Given the description of an element on the screen output the (x, y) to click on. 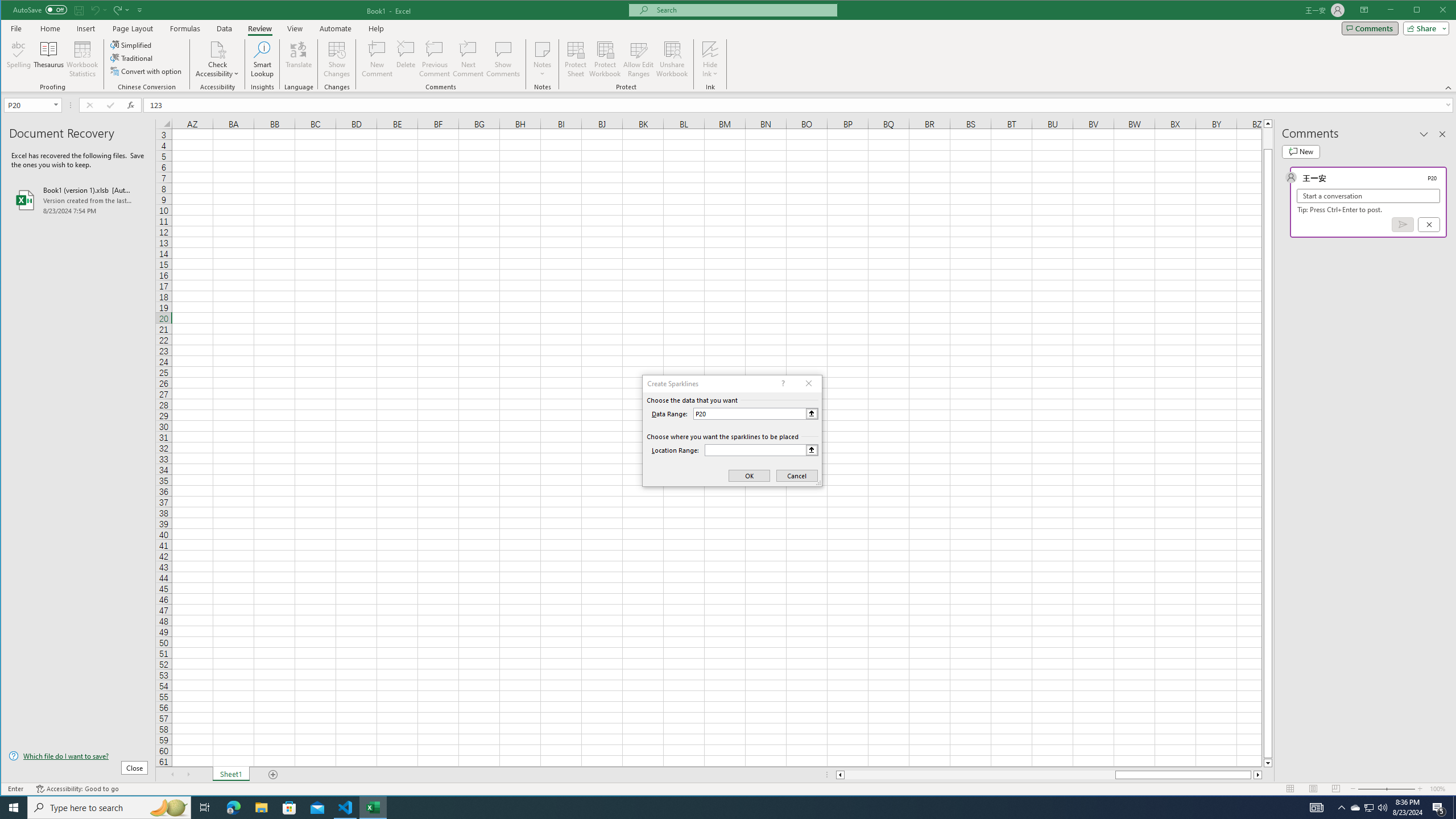
Maximize (1432, 11)
Show Changes (335, 59)
Workbook Statistics (82, 59)
Smart Lookup (261, 59)
New Comment (377, 59)
